Given the description of an element on the screen output the (x, y) to click on. 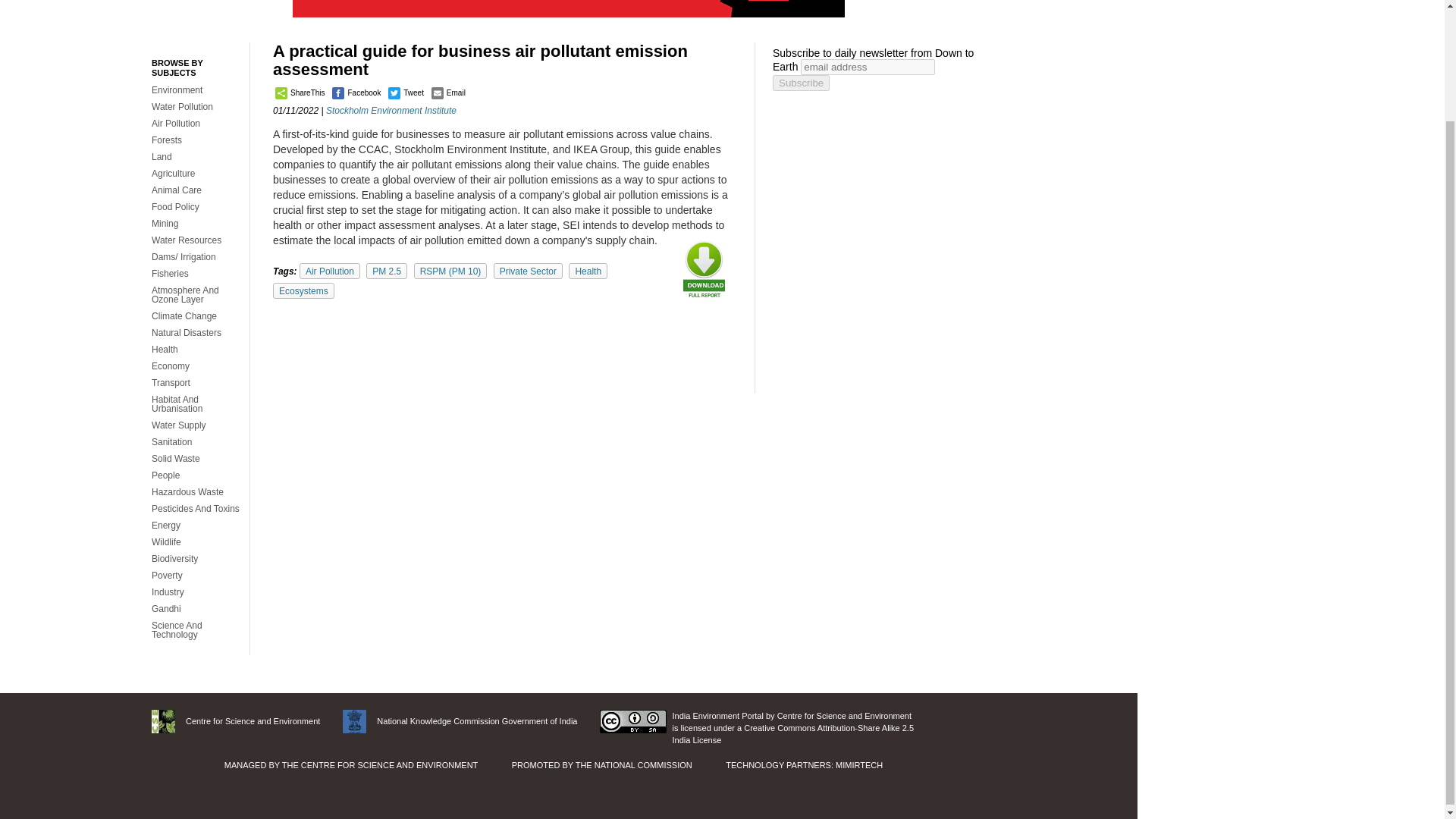
Subscribe (801, 82)
